Given the description of an element on the screen output the (x, y) to click on. 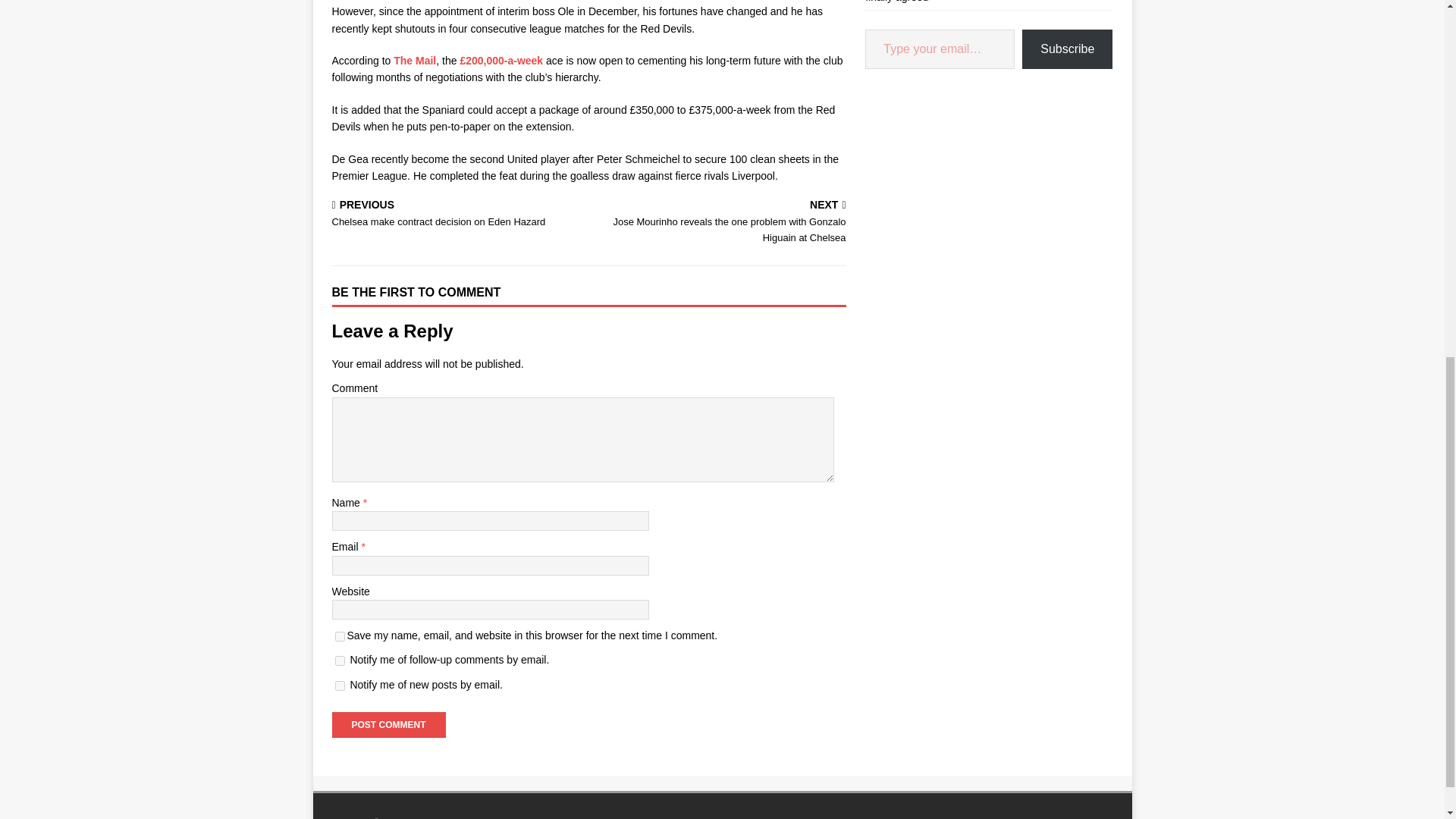
Post Comment (388, 724)
The Mail (457, 214)
subscribe (414, 60)
subscribe (339, 685)
yes (339, 660)
Post Comment (339, 636)
